Given the description of an element on the screen output the (x, y) to click on. 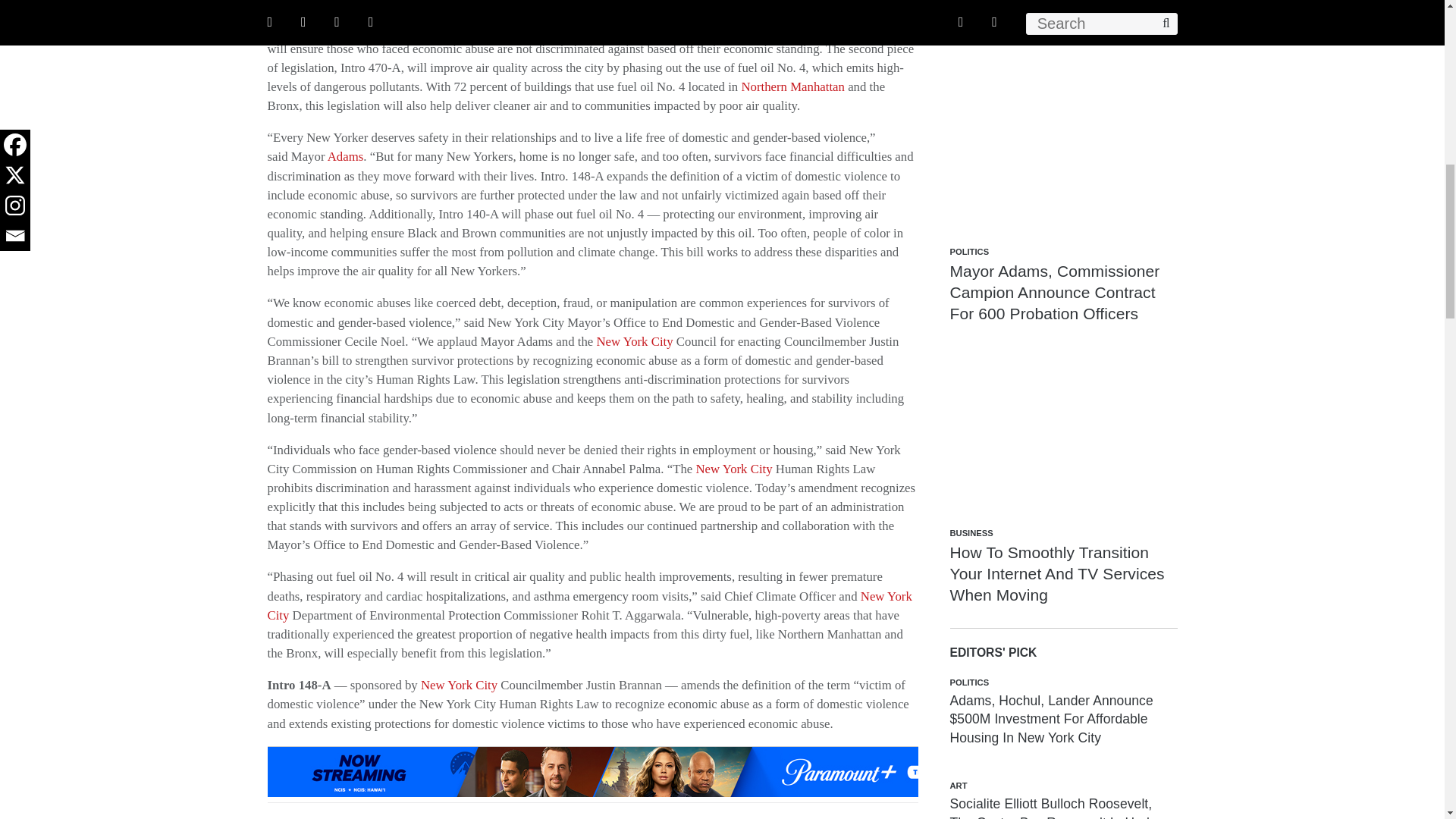
Northern Manhattan (792, 86)
New York City (458, 685)
New York City (633, 341)
Adams (345, 156)
New York City (588, 605)
New York City (733, 468)
